Given the description of an element on the screen output the (x, y) to click on. 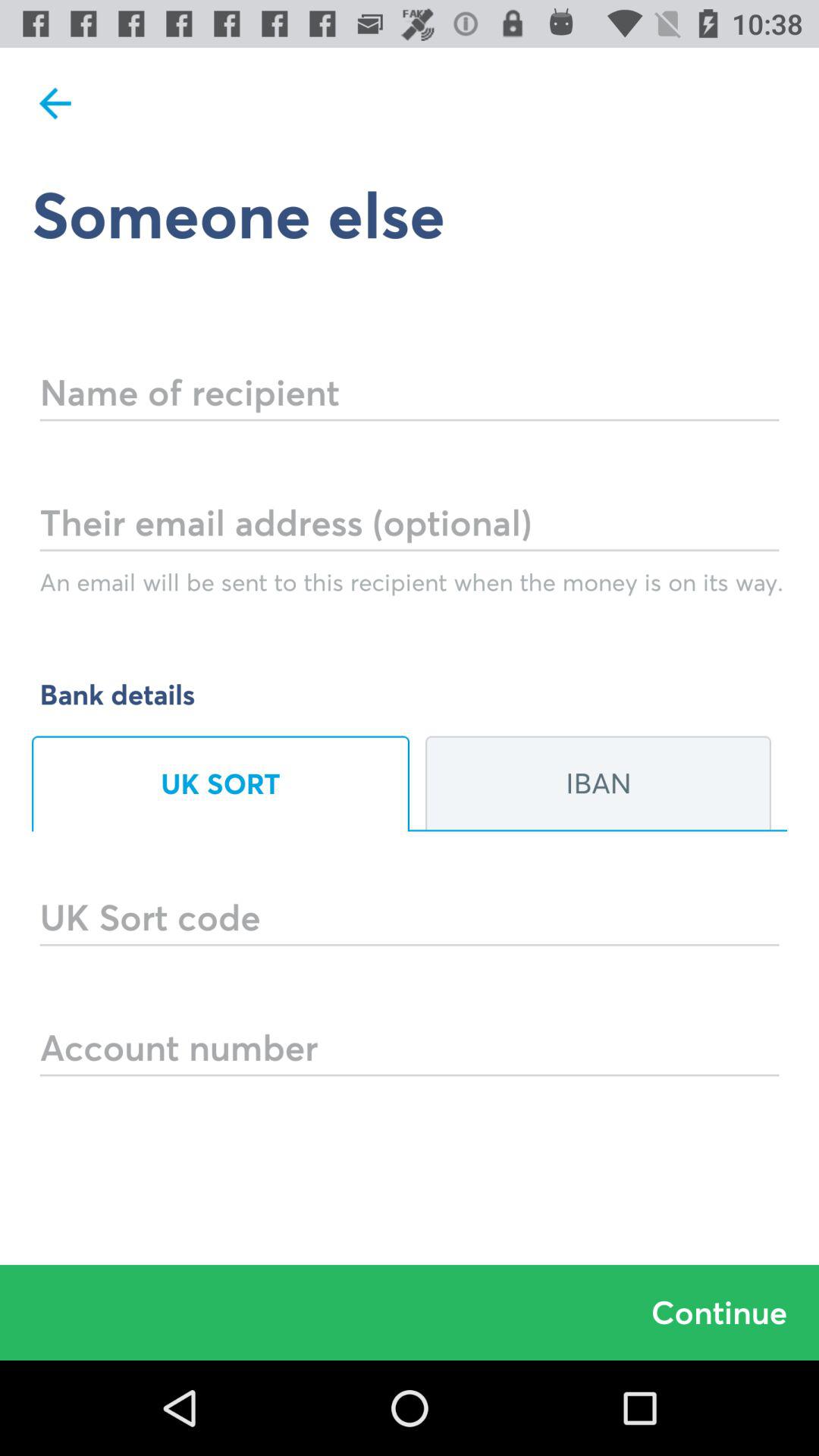
flip to continue icon (409, 1312)
